Given the description of an element on the screen output the (x, y) to click on. 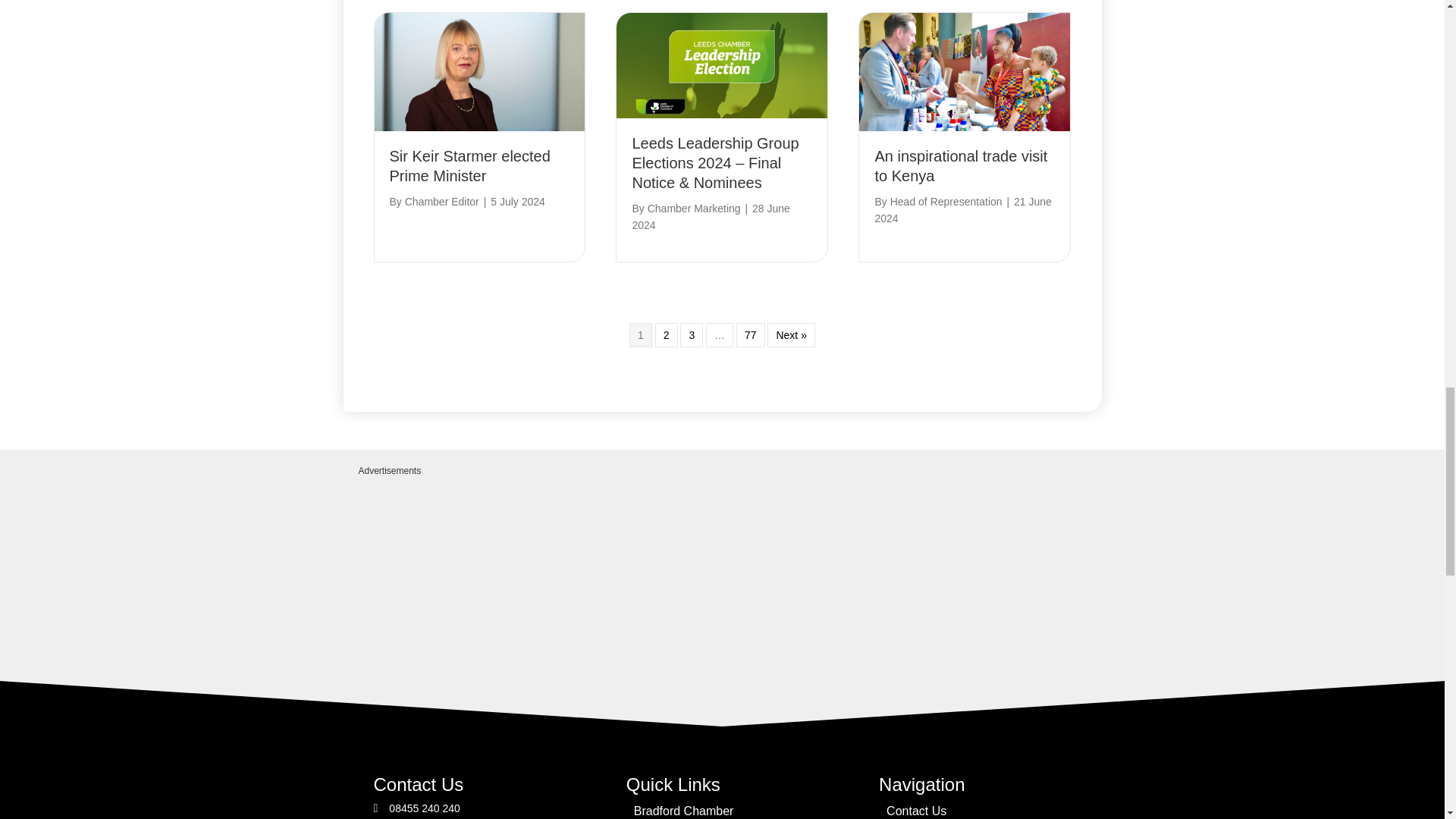
Sir Keir Starmer elected Prime Minister (479, 70)
An inspirational trade visit to Kenya (964, 70)
An inspirational trade visit to Kenya (960, 166)
Sir Keir Starmer elected Prime Minister (470, 166)
